Given the description of an element on the screen output the (x, y) to click on. 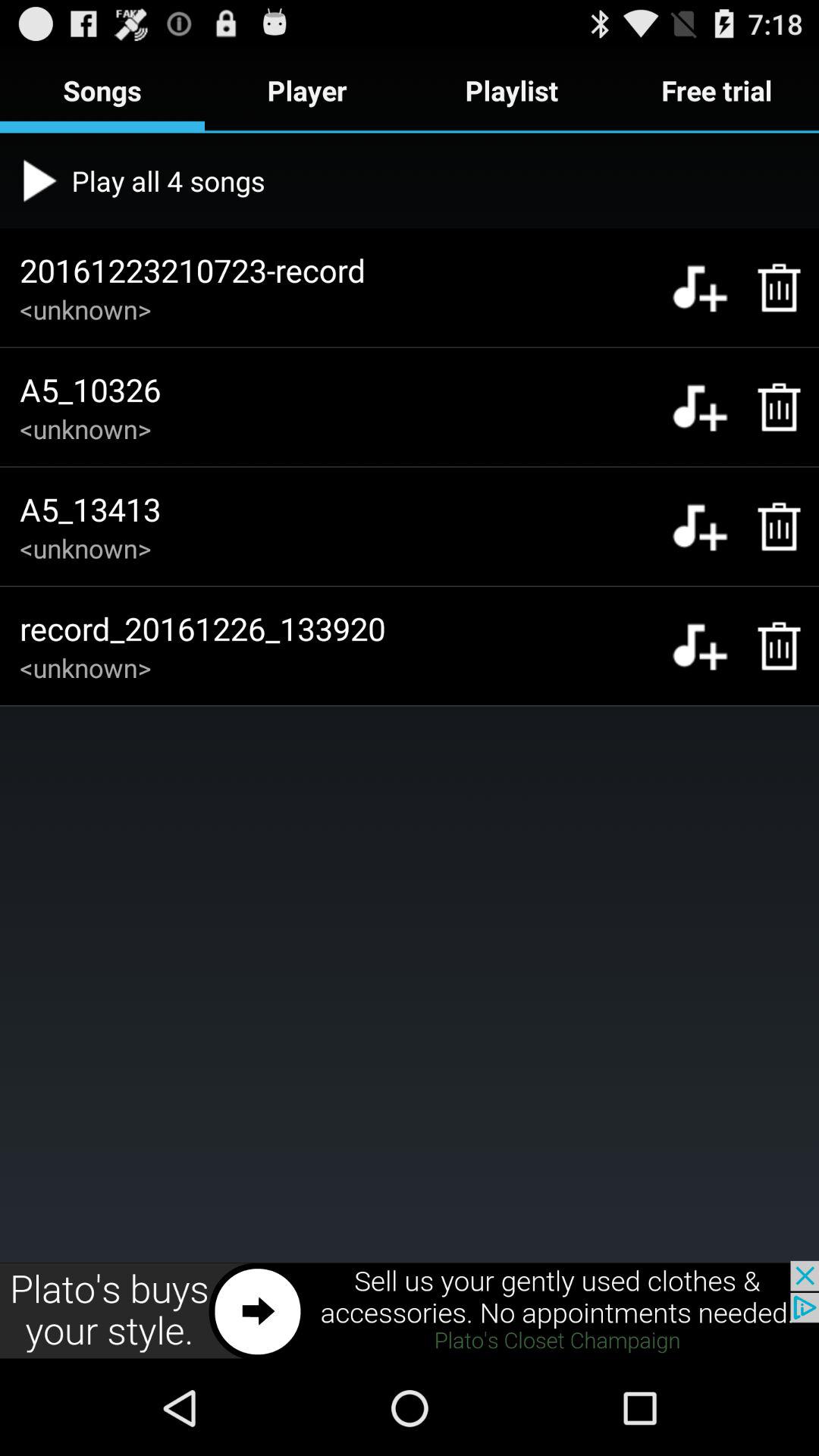
recycle bin (771, 407)
